Given the description of an element on the screen output the (x, y) to click on. 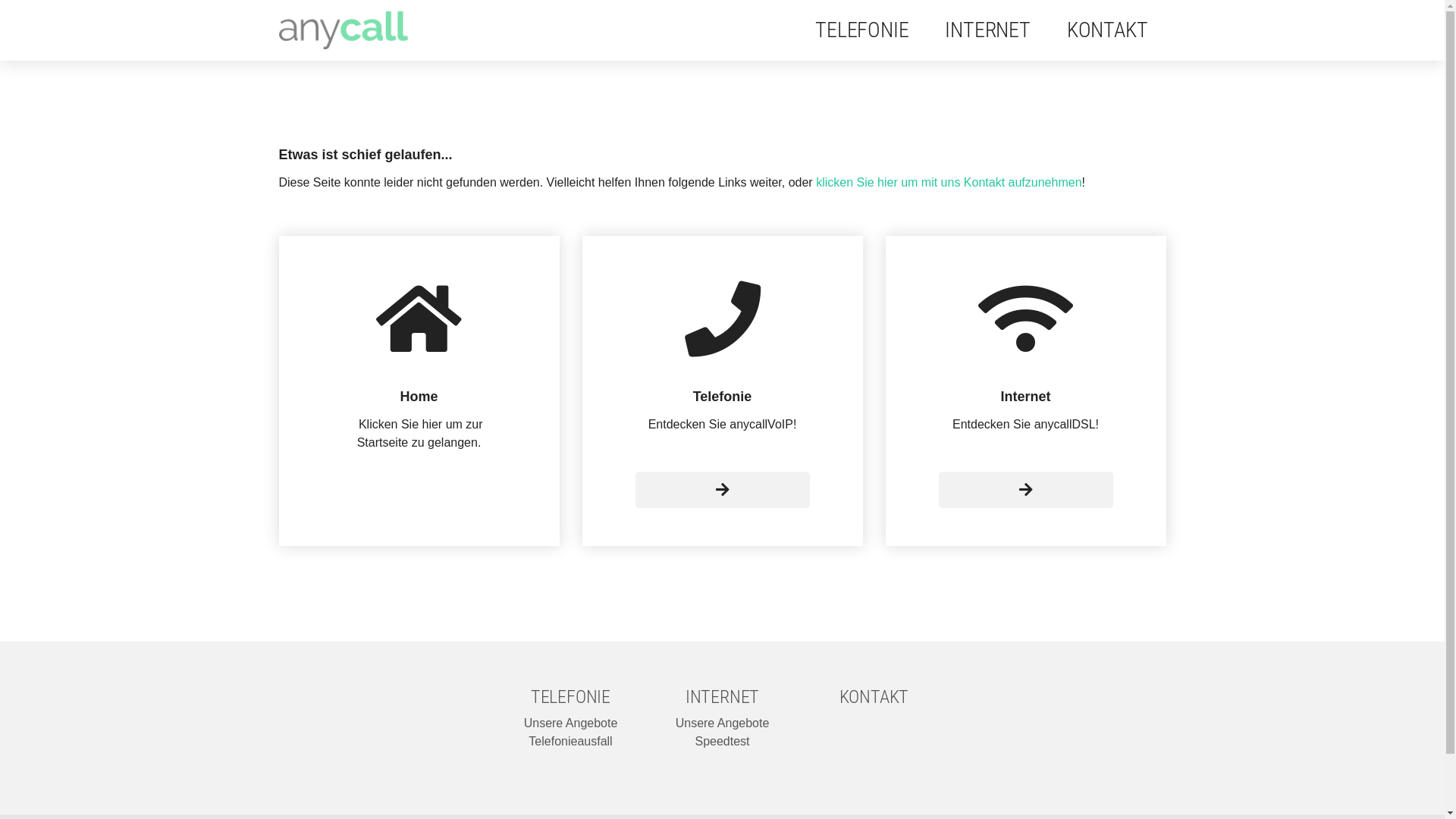
Speedtest Element type: text (721, 740)
TELEFONIE Element type: text (570, 696)
KONTAKT Element type: text (874, 696)
INTERNET Element type: text (987, 30)
Telefonieausfall Element type: text (569, 740)
Unsere Angebote Element type: text (571, 722)
klicken Sie hier um mit uns Kontakt aufzunehmen Element type: text (948, 181)
INTERNET Element type: text (722, 696)
KONTAKT Element type: text (1107, 30)
TELEFONIE Element type: text (861, 30)
Unsere Angebote Element type: text (722, 722)
